Given the description of an element on the screen output the (x, y) to click on. 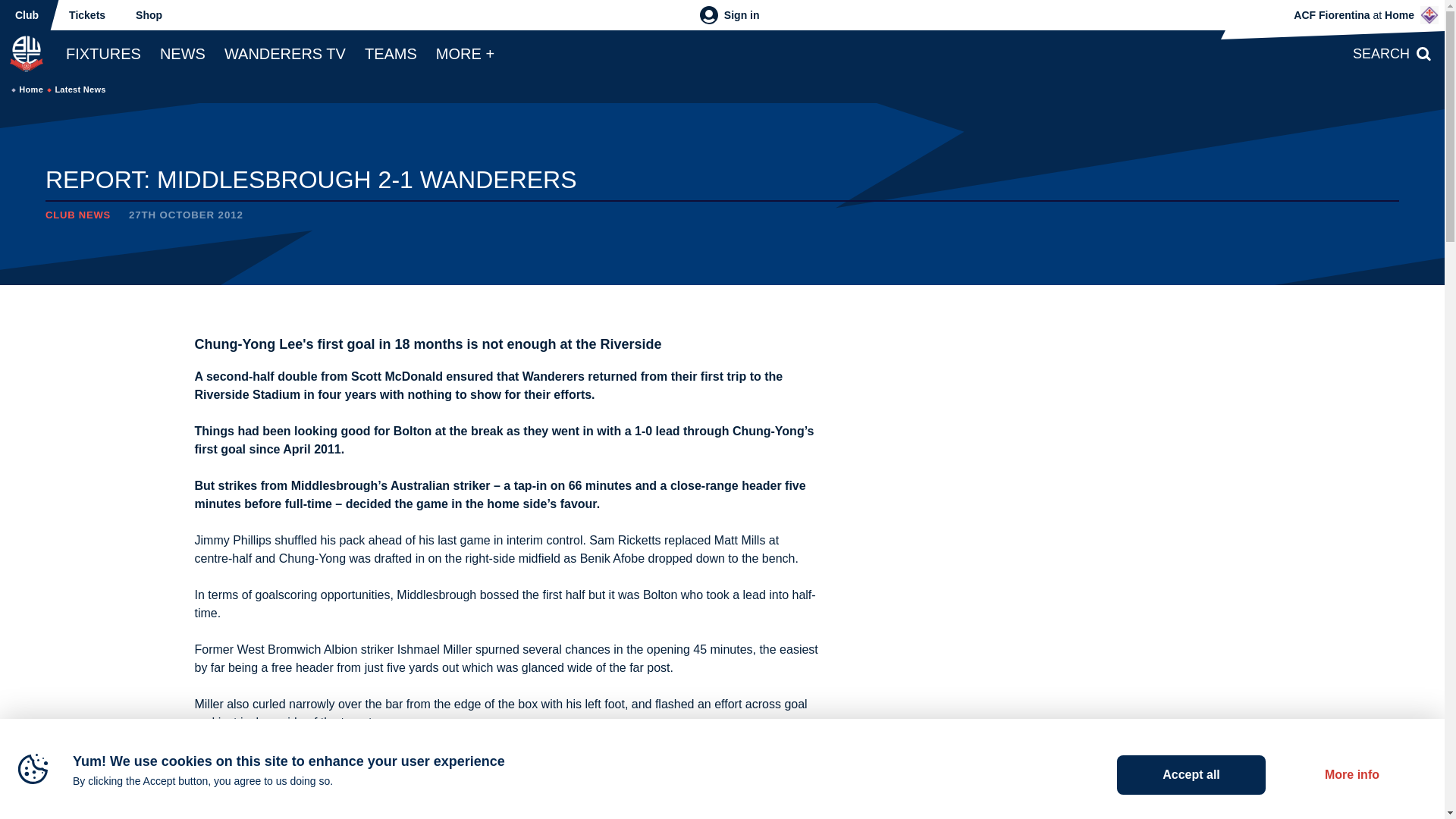
News (182, 53)
Back to home (25, 53)
Tickets (86, 15)
NEWS (182, 53)
FIXTURES (103, 53)
Fixtures (103, 53)
Shop (148, 15)
WANDERERS TV (285, 53)
Sign in (730, 15)
Club (26, 15)
